Given the description of an element on the screen output the (x, y) to click on. 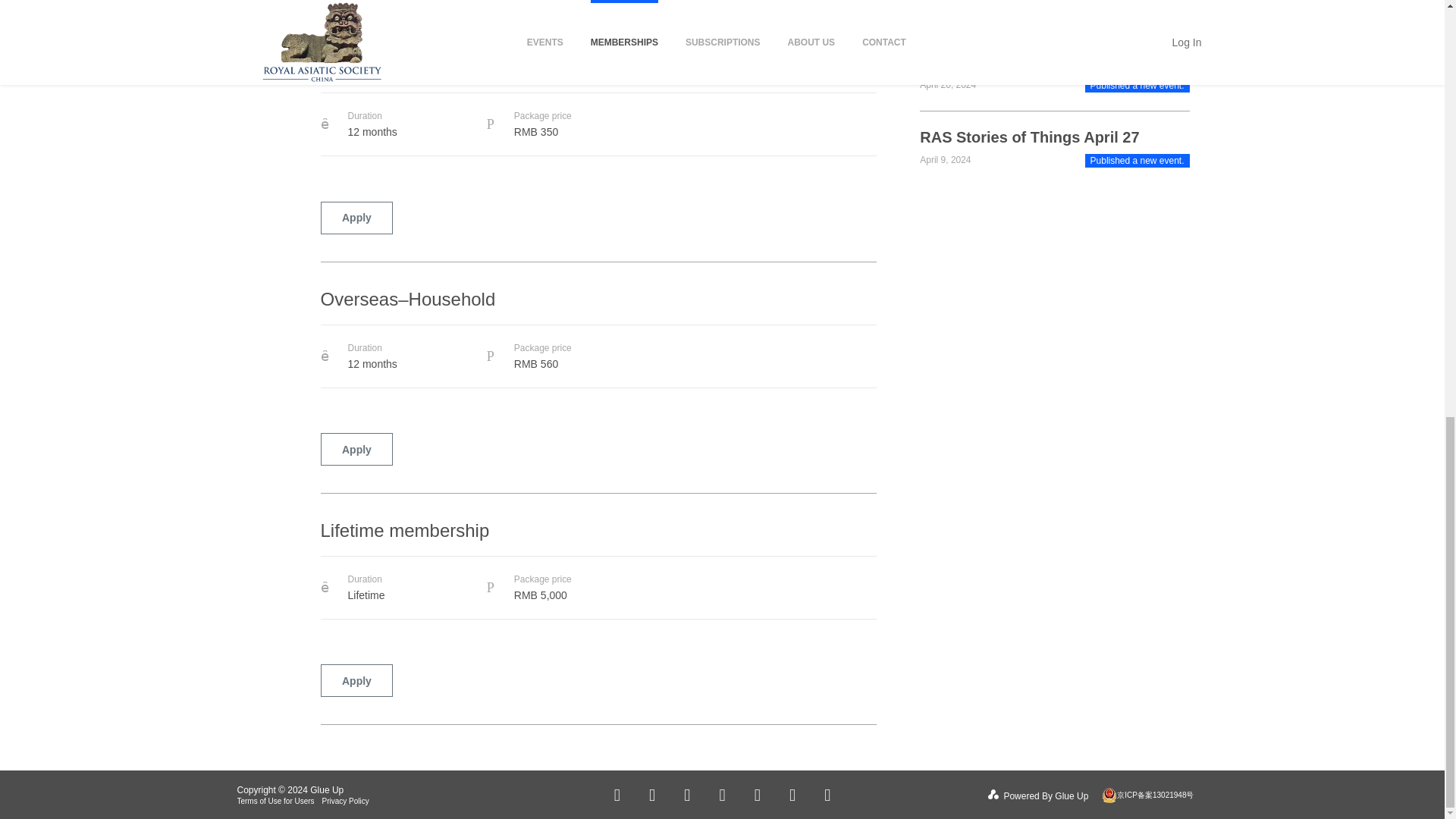
Lifetime membership (598, 536)
Apply (356, 680)
Privacy Policy (345, 800)
Apply (356, 217)
RAS Spring Social 18 May 2024 (1032, 61)
Terms of Use for Users (274, 800)
Apply (356, 1)
RAS Stories of Things April 27 (1029, 136)
Apply (356, 449)
